Given the description of an element on the screen output the (x, y) to click on. 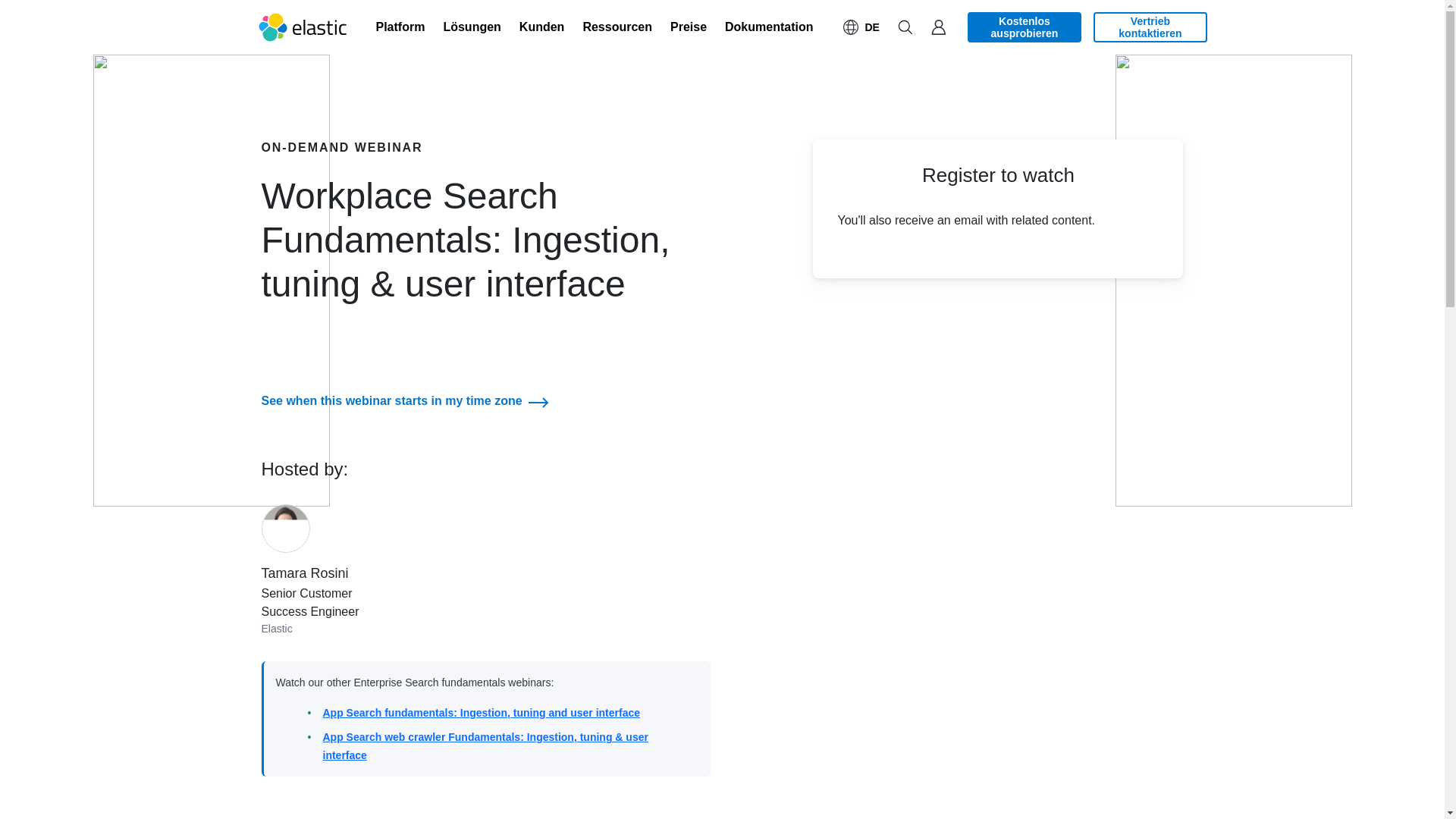
Elastic (303, 27)
Platform (399, 27)
Search (904, 27)
Vertrieb kontaktieren (1150, 27)
Kostenlos ausprobieren (1024, 27)
DE (861, 27)
Login (938, 27)
